Given the description of an element on the screen output the (x, y) to click on. 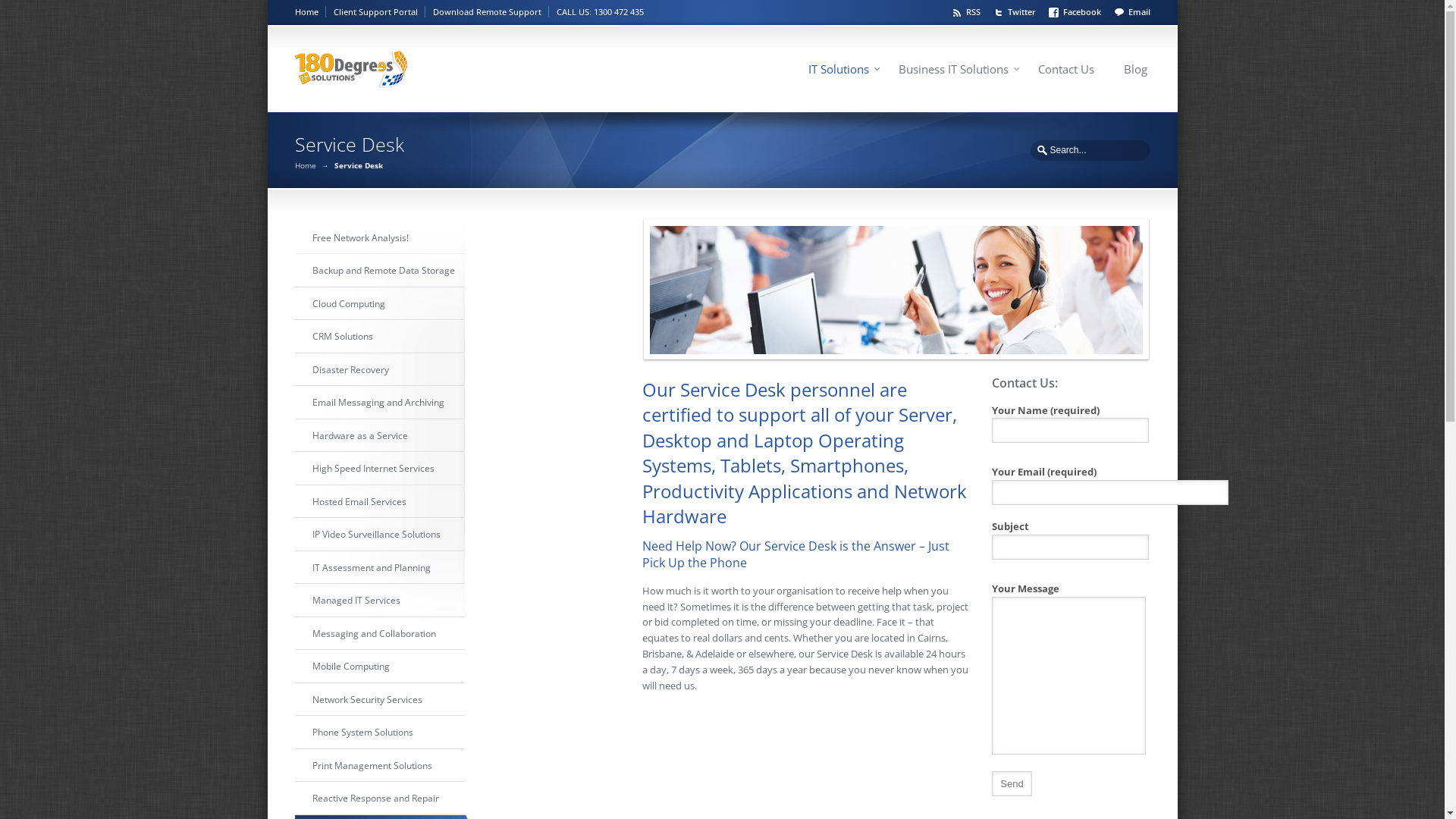
Twitter Element type: text (1015, 10)
Network Security Services Element type: text (379, 699)
Business IT Solutions Element type: text (952, 68)
Free Network Analysis! Element type: text (379, 237)
Disaster Recovery Element type: text (379, 369)
High Speed Internet Services Element type: text (379, 468)
Home Element type: text (304, 164)
Download Remote Support Element type: text (490, 11)
CALL US: 1300 472 435 Element type: text (599, 11)
Client Support Portal Element type: text (379, 11)
Facebook Element type: text (1076, 10)
Cloud Computing Element type: text (379, 304)
Messaging and Collaboration Element type: text (379, 633)
Contact Us Element type: text (1065, 68)
Blog Element type: text (1135, 68)
Managed IT Services Element type: text (379, 600)
Backup and Remote Data Storage Element type: text (379, 270)
Hardware as a Service Element type: text (379, 435)
Hosted Email Services Element type: text (379, 501)
RSS Element type: text (968, 10)
Reactive Response and Repair Element type: text (379, 798)
IT Solutions Element type: text (838, 68)
Send Element type: text (1011, 783)
Email Messaging and Archiving Element type: text (379, 402)
CRM Solutions Element type: text (379, 336)
IP Video Surveillance Solutions Element type: text (379, 534)
Phone System Solutions Element type: text (379, 732)
Email Element type: text (1130, 10)
Print Management Solutions Element type: text (379, 765)
Mobile Computing Element type: text (379, 666)
Home Element type: text (309, 11)
IT Assessment and Planning Element type: text (379, 567)
